Given the description of an element on the screen output the (x, y) to click on. 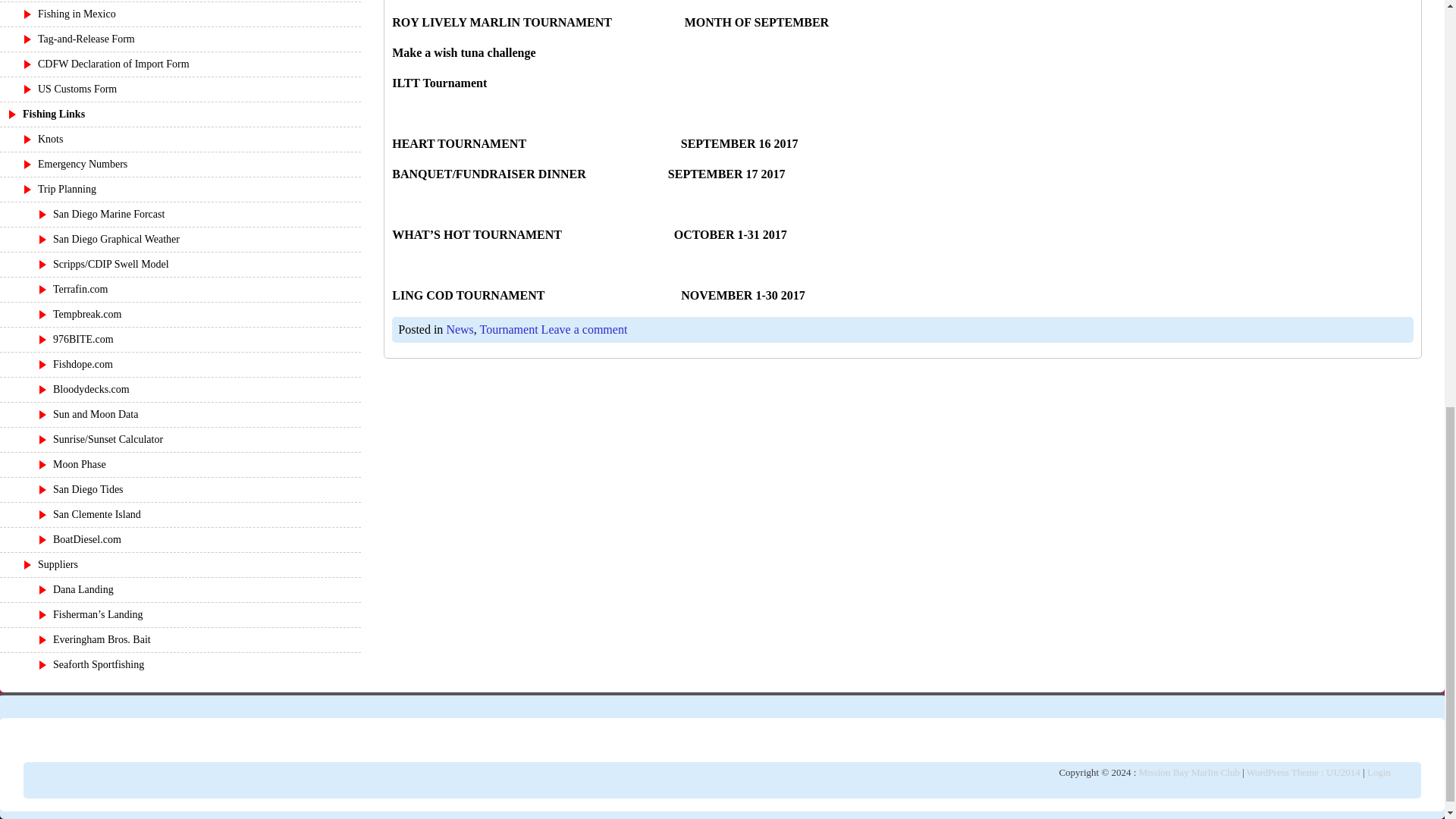
Login (1378, 772)
Leave a comment (584, 328)
News (459, 328)
Tournament (509, 328)
